Given the description of an element on the screen output the (x, y) to click on. 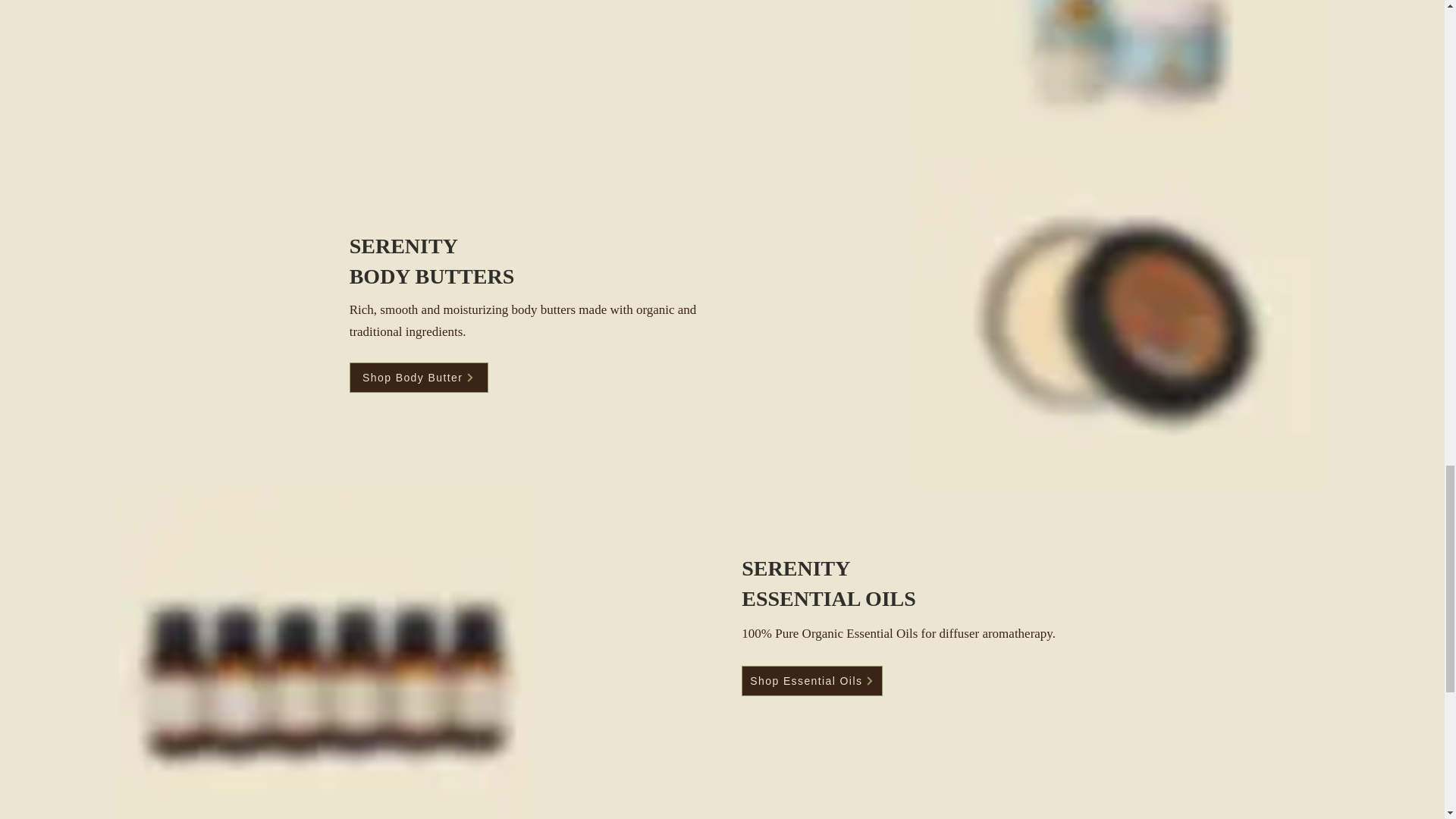
Shop Essential Oils (811, 680)
Shop Body Butter (418, 377)
